Given the description of an element on the screen output the (x, y) to click on. 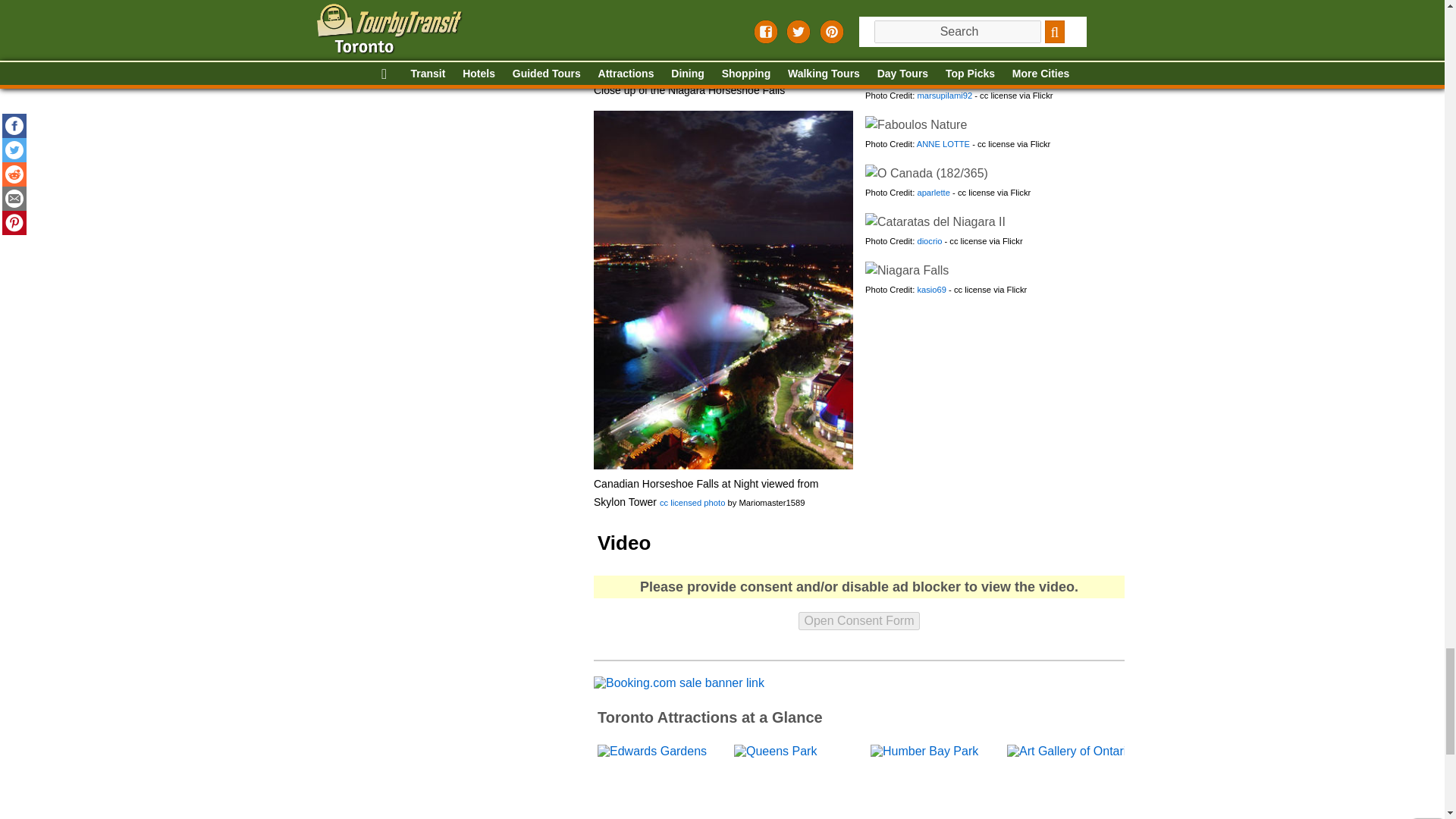
marsupilami92 (944, 46)
Click to Enlarge (721, 38)
Click to Enlarge (934, 76)
cc licensed photo (691, 501)
marsupilami92 (944, 1)
Click to Enlarge (934, 221)
Click to Enlarge (925, 173)
Click to Enlarge (905, 270)
Click to Enlarge (915, 125)
Click to Enlarge (927, 27)
